Given the description of an element on the screen output the (x, y) to click on. 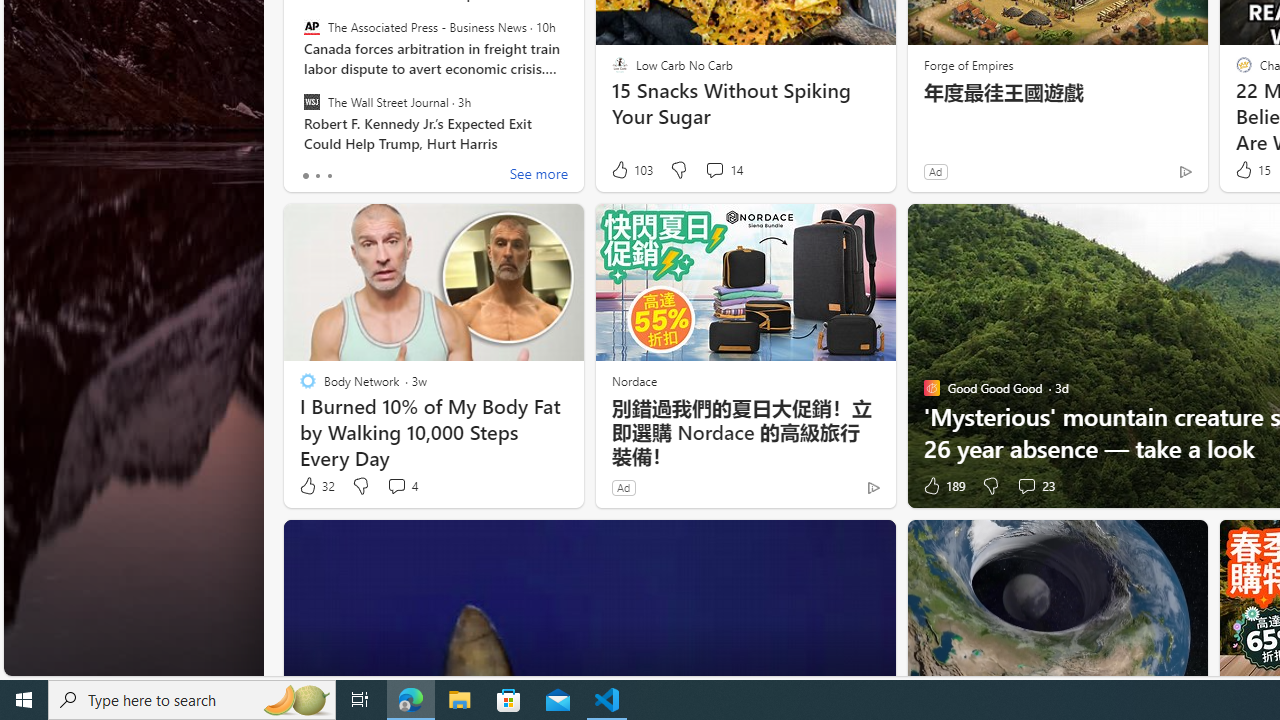
The Wall Street Journal (311, 101)
The Associated Press - Business News (311, 27)
15 Like (1251, 170)
View comments 23 Comment (1026, 485)
tab-0 (305, 175)
View comments 4 Comment (401, 485)
189 Like (942, 485)
View comments 14 Comment (723, 170)
